Given the description of an element on the screen output the (x, y) to click on. 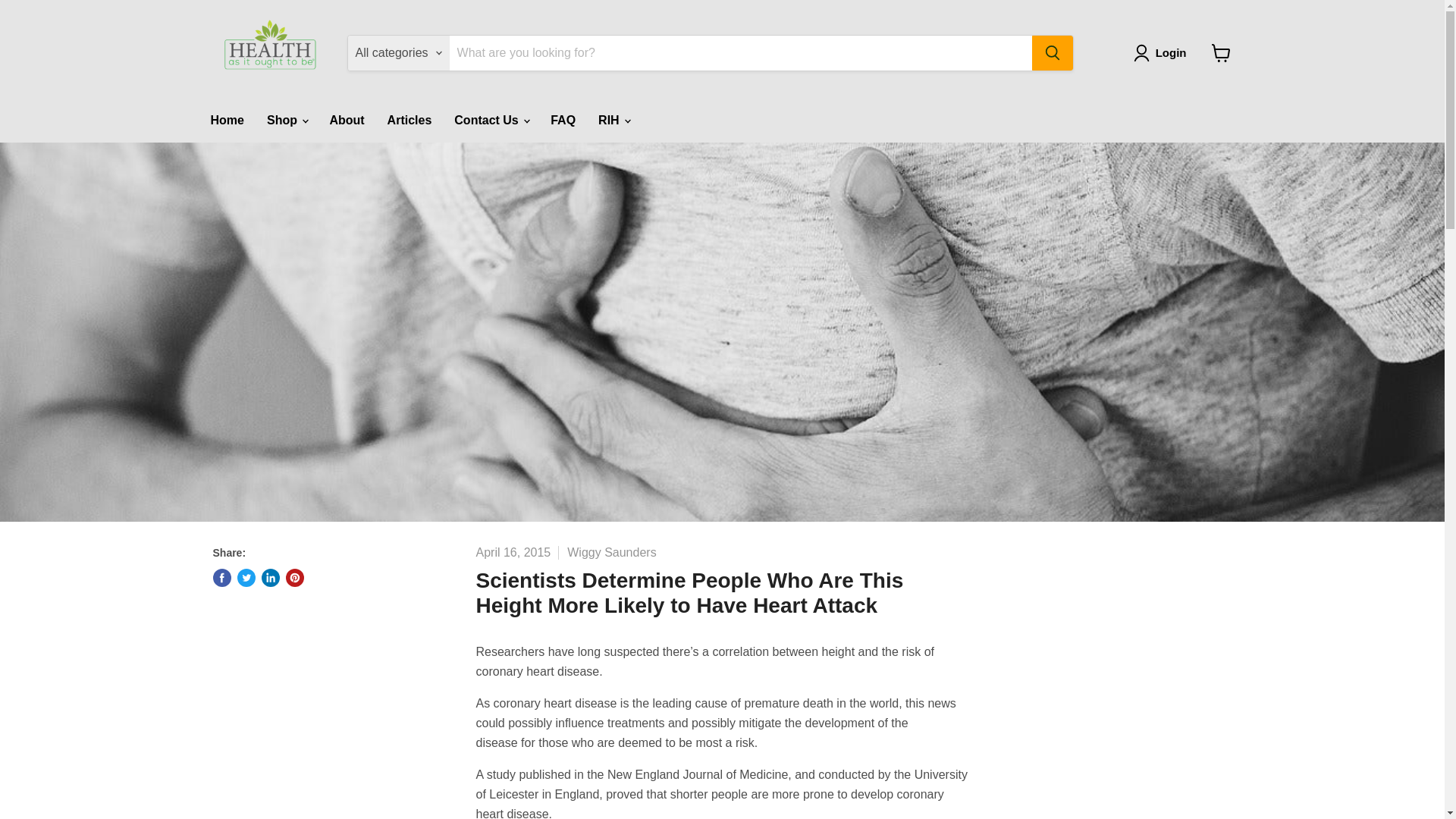
Home (226, 120)
Contact Us (490, 120)
View cart (1221, 52)
FAQ (562, 120)
Articles (409, 120)
Login (1171, 53)
About (346, 120)
Shop (286, 120)
